Given the description of an element on the screen output the (x, y) to click on. 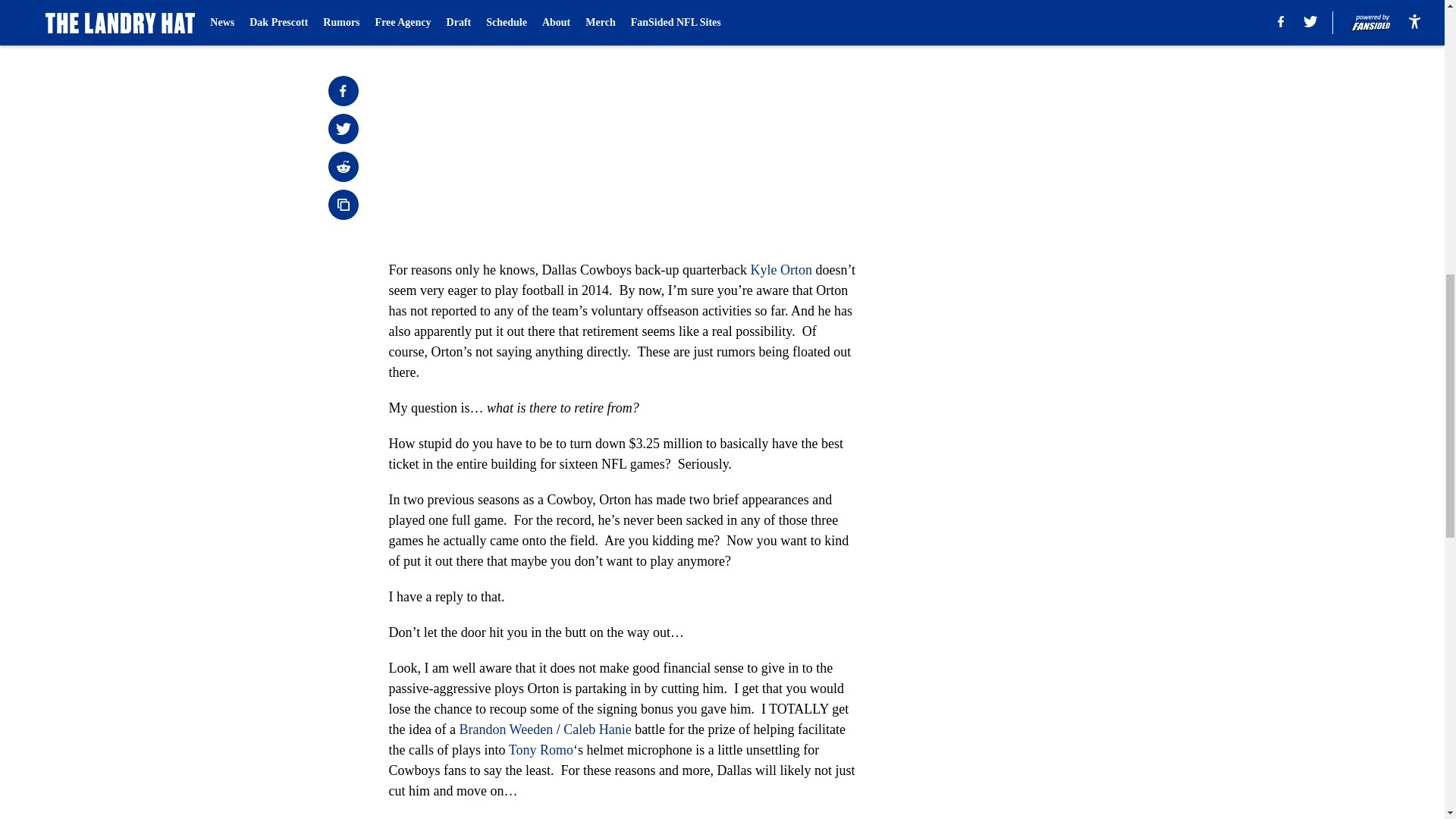
Caleb Hanie (596, 729)
Brandon Weeden (505, 729)
Tony Romo (540, 749)
Kyle Orton (779, 269)
